Given the description of an element on the screen output the (x, y) to click on. 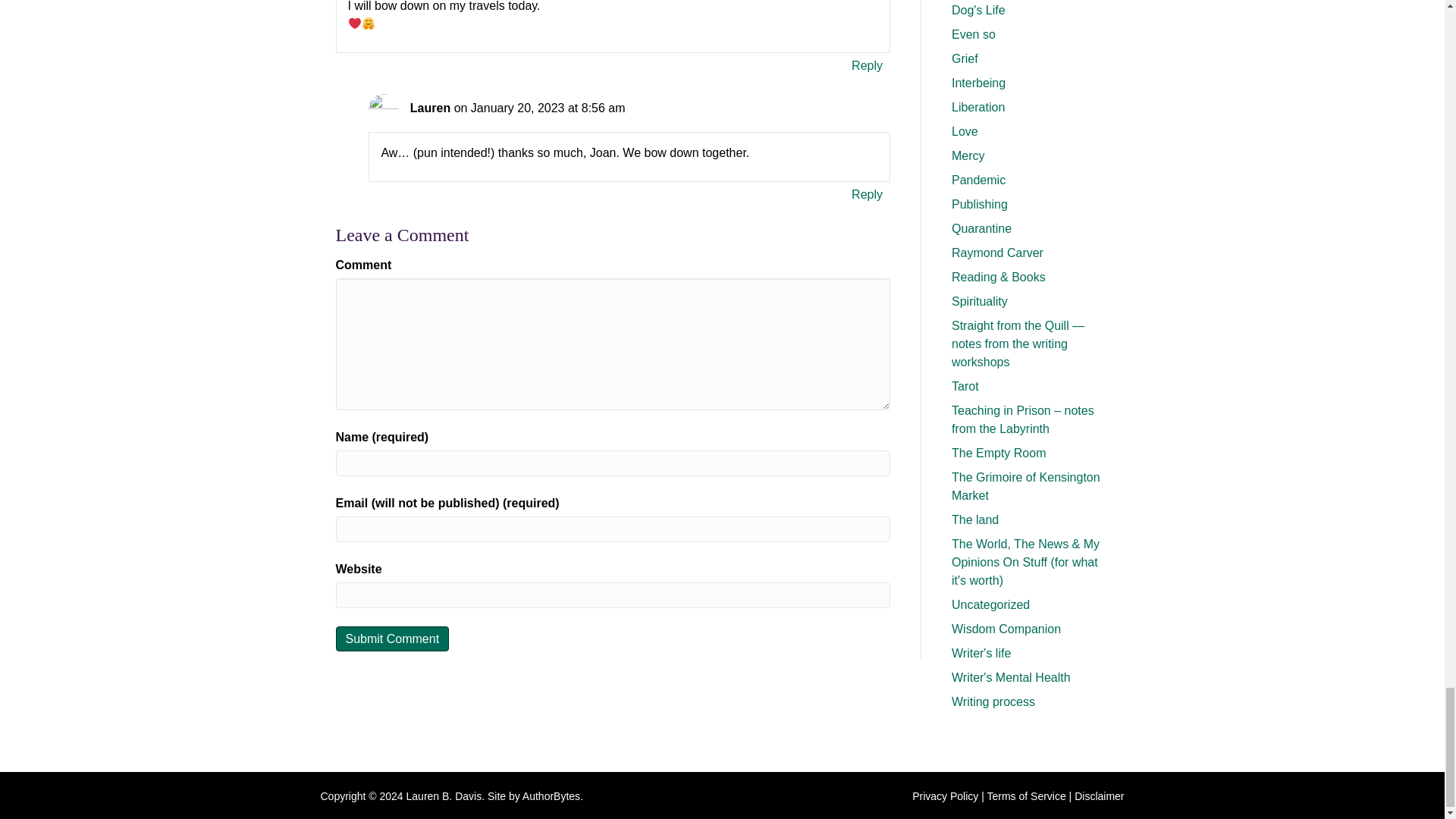
Submit Comment (391, 638)
